Given the description of an element on the screen output the (x, y) to click on. 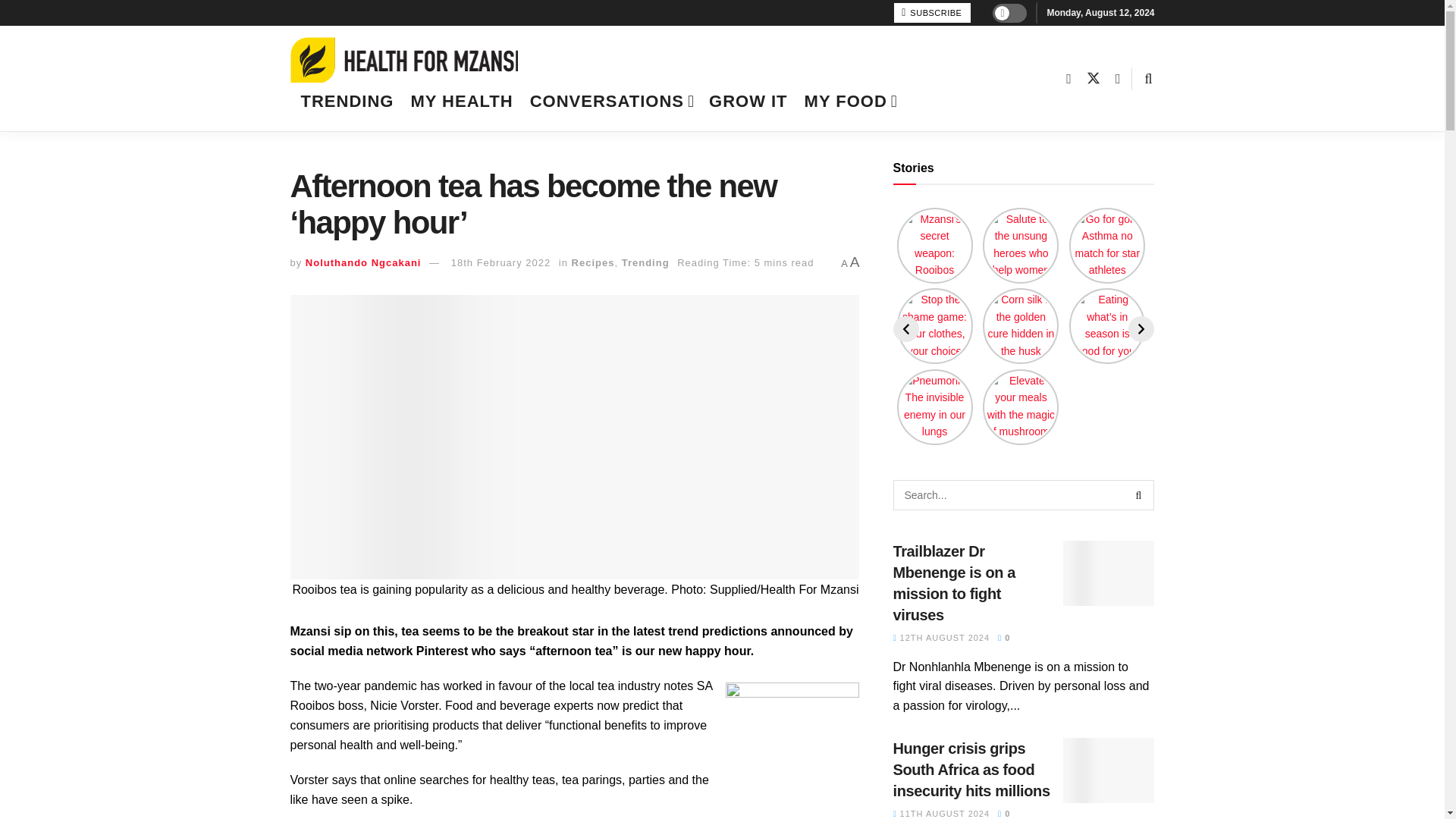
GROW IT (748, 100)
Trending (645, 262)
Noluthando Ngcakani (363, 262)
MY FOOD (850, 100)
CONVERSATIONS (611, 100)
18th February 2022 (500, 262)
Recipes (593, 262)
TRENDING (346, 100)
MY HEALTH (461, 100)
SUBSCRIBE (932, 12)
